Given the description of an element on the screen output the (x, y) to click on. 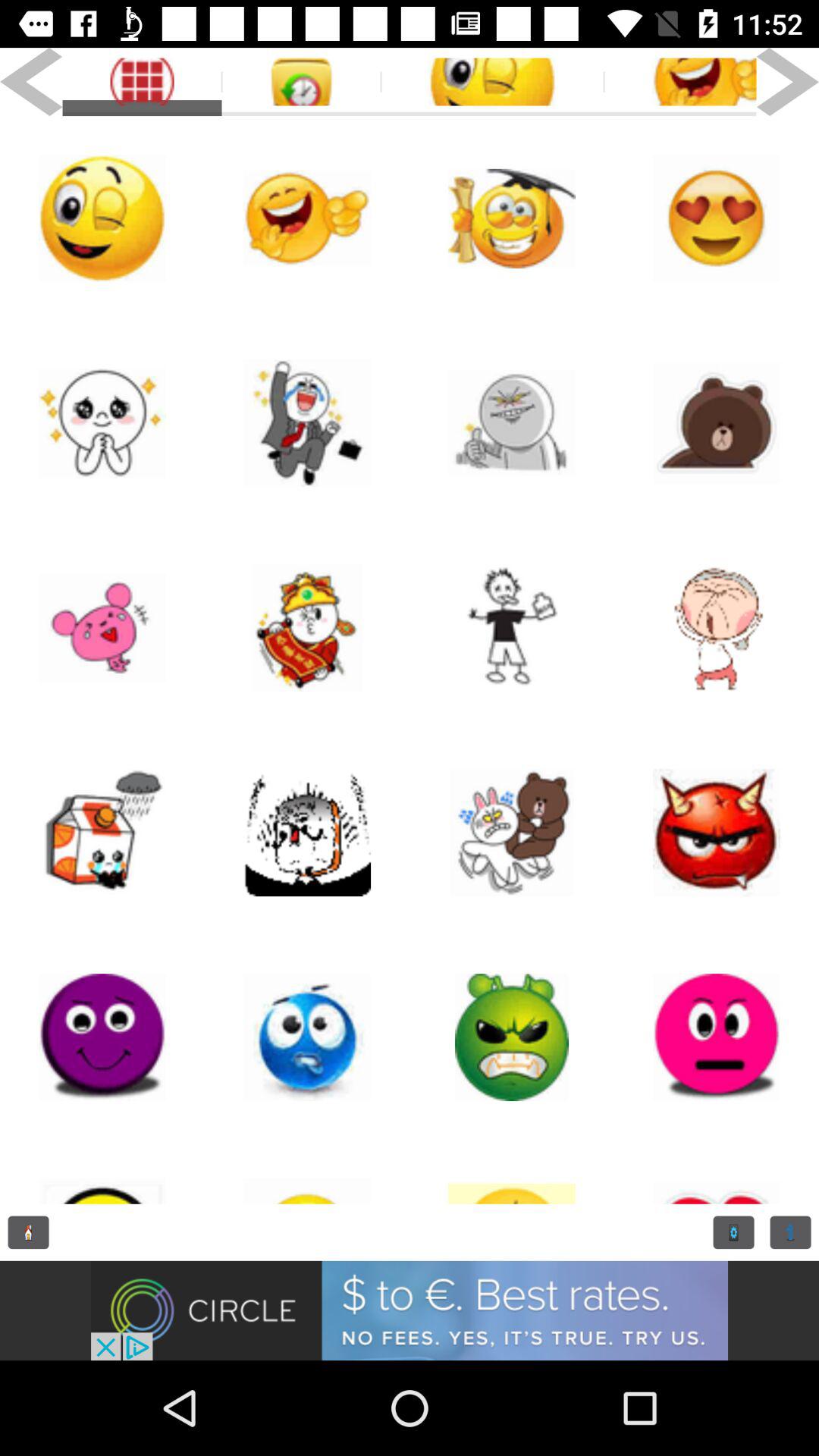
doll page (306, 627)
